Given the description of an element on the screen output the (x, y) to click on. 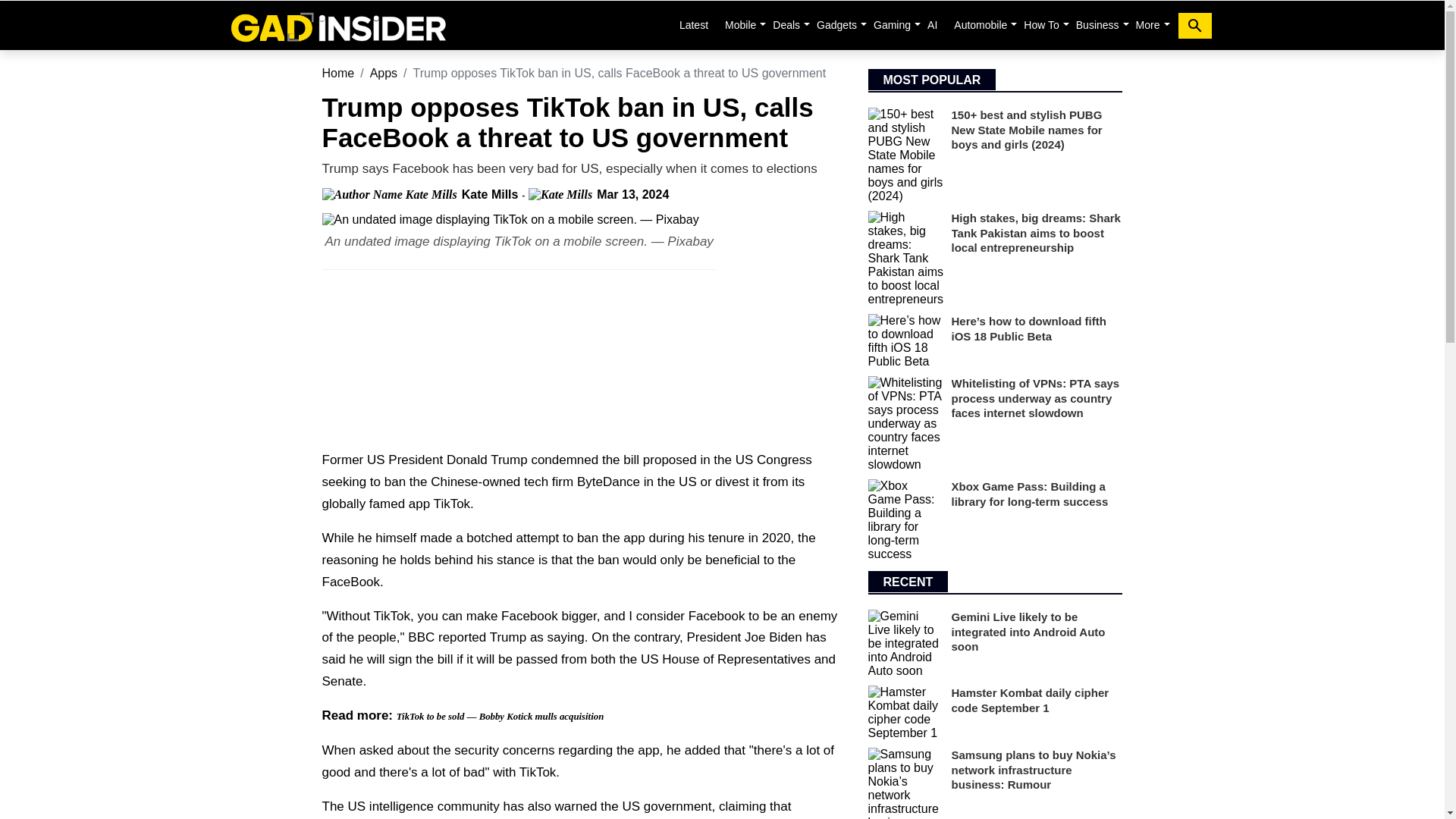
Home (337, 24)
Latest (693, 24)
Automobile (980, 24)
Deals (786, 24)
Business (1097, 24)
Automobile (980, 24)
Gaming (892, 24)
Gaming (892, 24)
Mobile (740, 24)
How To (1040, 24)
